Given the description of an element on the screen output the (x, y) to click on. 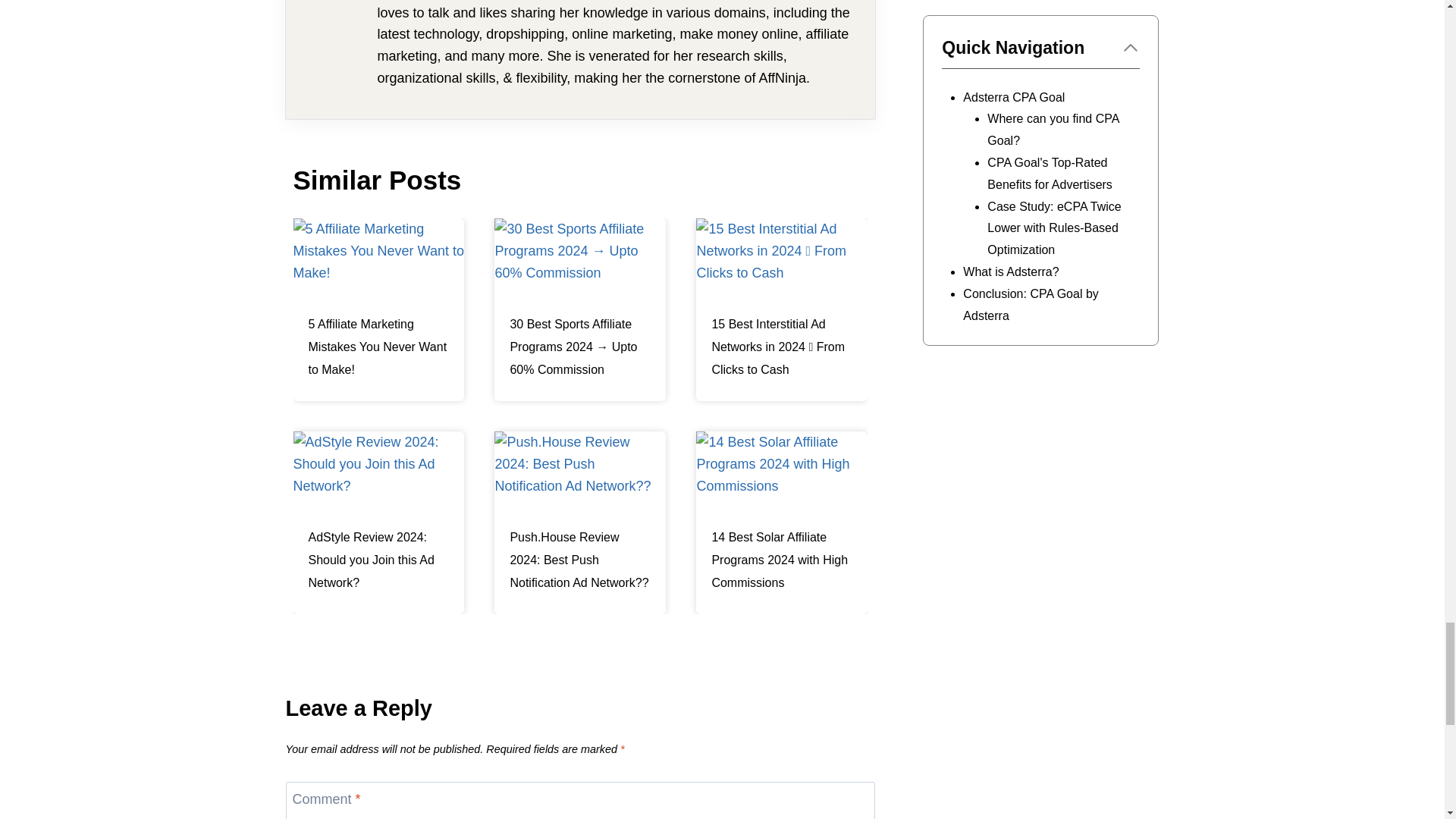
AdStyle Review 2024: Should you Join this Ad Network? 7 (378, 473)
5 Affiliate Marketing Mistakes You Never Want to Make! 4 (378, 260)
